Given the description of an element on the screen output the (x, y) to click on. 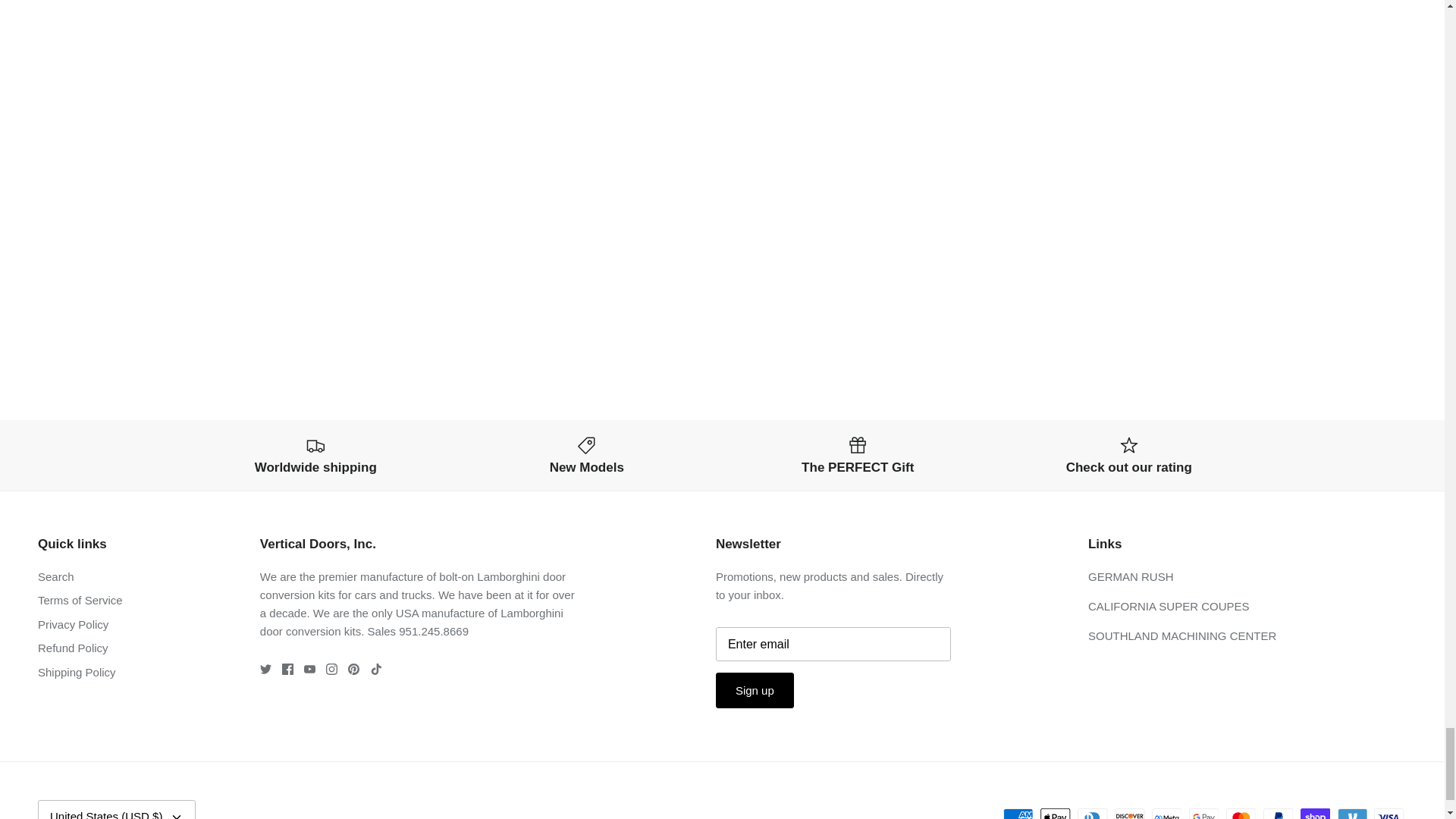
Twitter (265, 668)
Instagram (331, 668)
Youtube (309, 668)
Pinterest (353, 668)
American Express (1018, 813)
Facebook (288, 668)
